Given the description of an element on the screen output the (x, y) to click on. 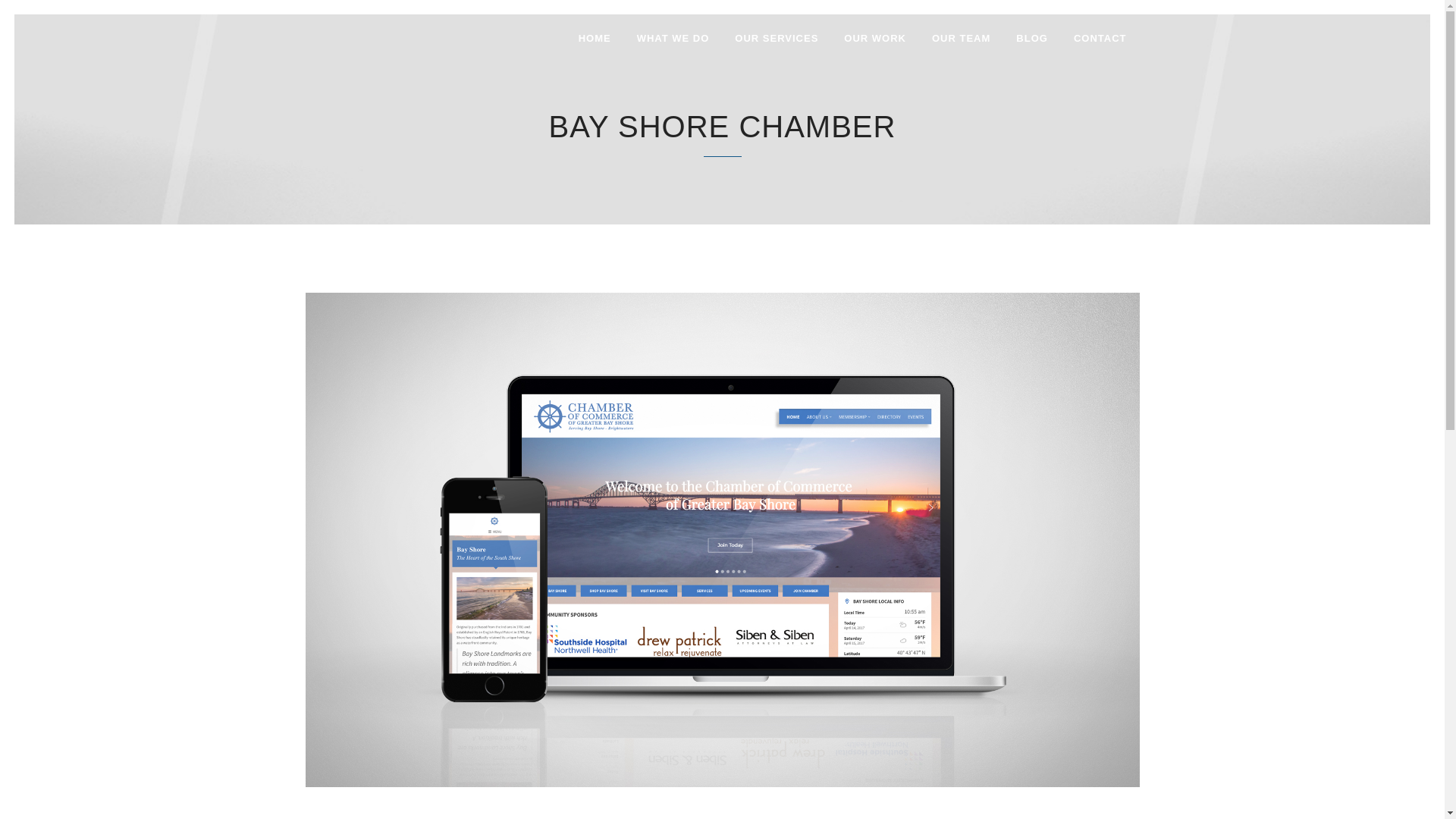
WHAT WE DO (673, 38)
OUR WORK (874, 38)
CONTACT (1100, 38)
OUR SERVICES (776, 38)
OUR TEAM (960, 38)
